Given the description of an element on the screen output the (x, y) to click on. 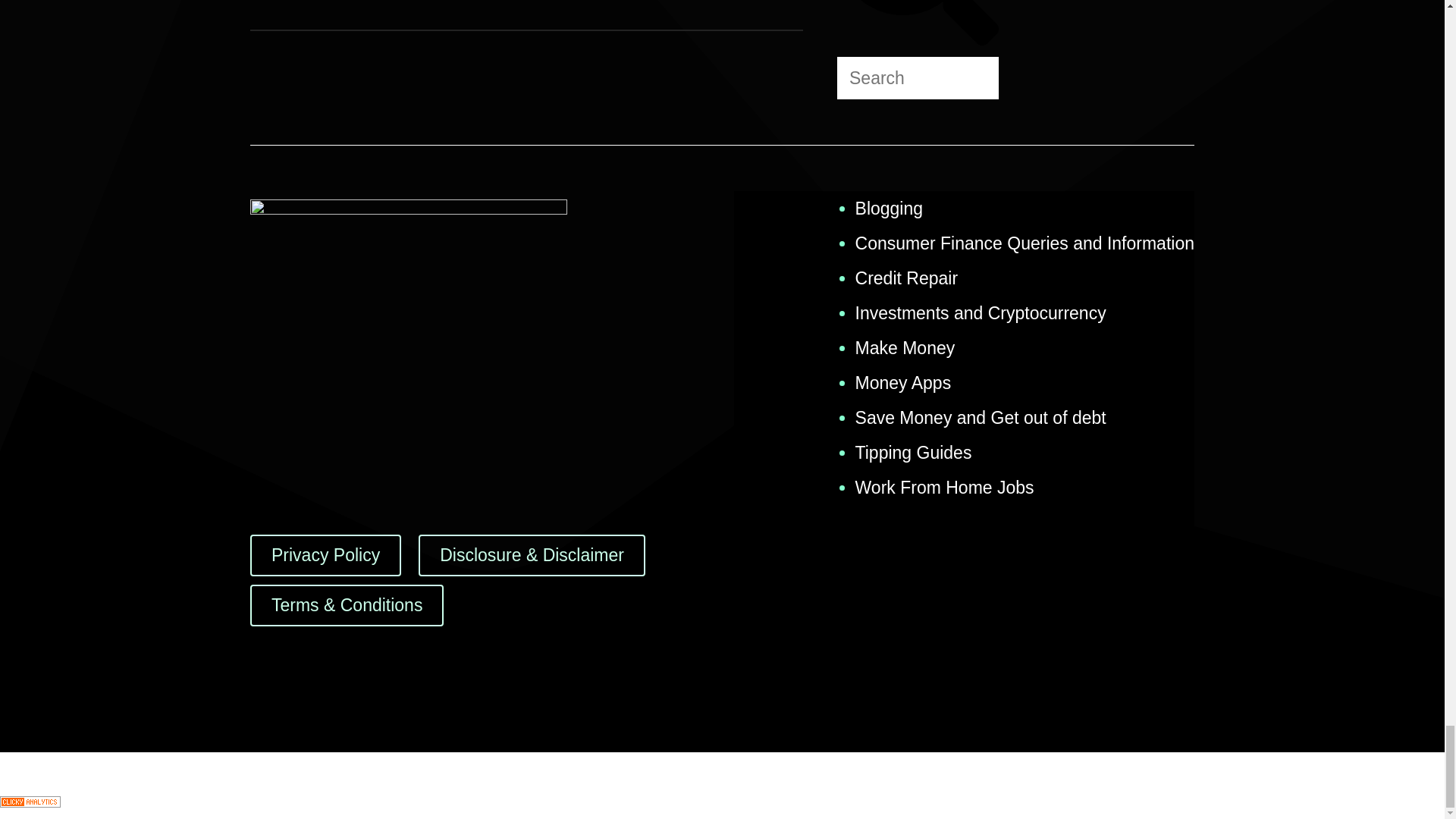
A category about tipping customs and etiquette.  (914, 452)
All of our best work from home opportunities and jobs. (944, 487)
Search (917, 77)
Privacy Policy (325, 555)
